Given the description of an element on the screen output the (x, y) to click on. 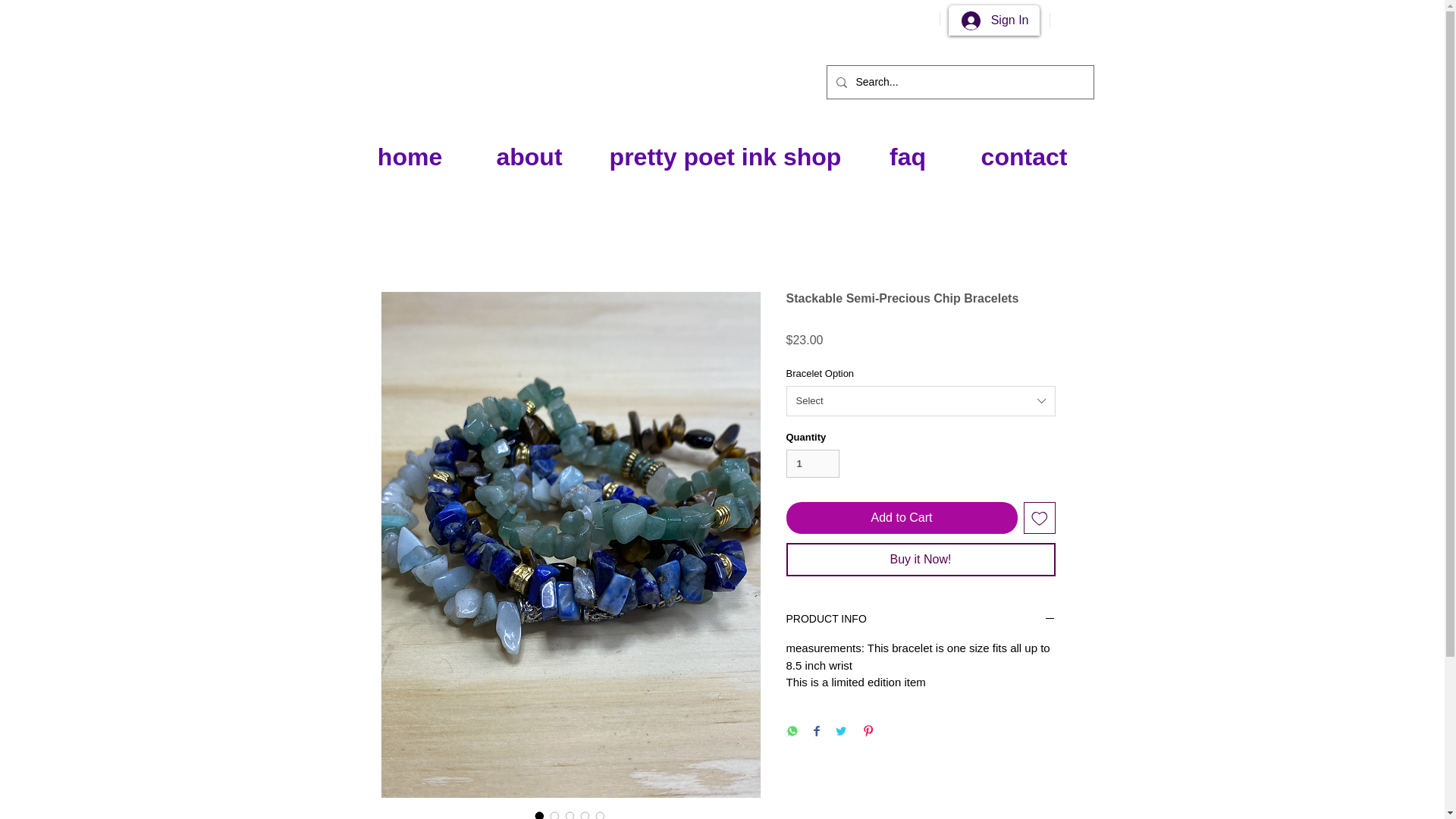
1 (813, 462)
home (409, 157)
Buy it Now! (920, 559)
PRODUCT INFO (920, 619)
Sign In (994, 19)
contact (1023, 157)
about (528, 157)
pretty poet ink shop (725, 157)
faq (908, 157)
Select (920, 399)
Add to Cart (901, 517)
